Given the description of an element on the screen output the (x, y) to click on. 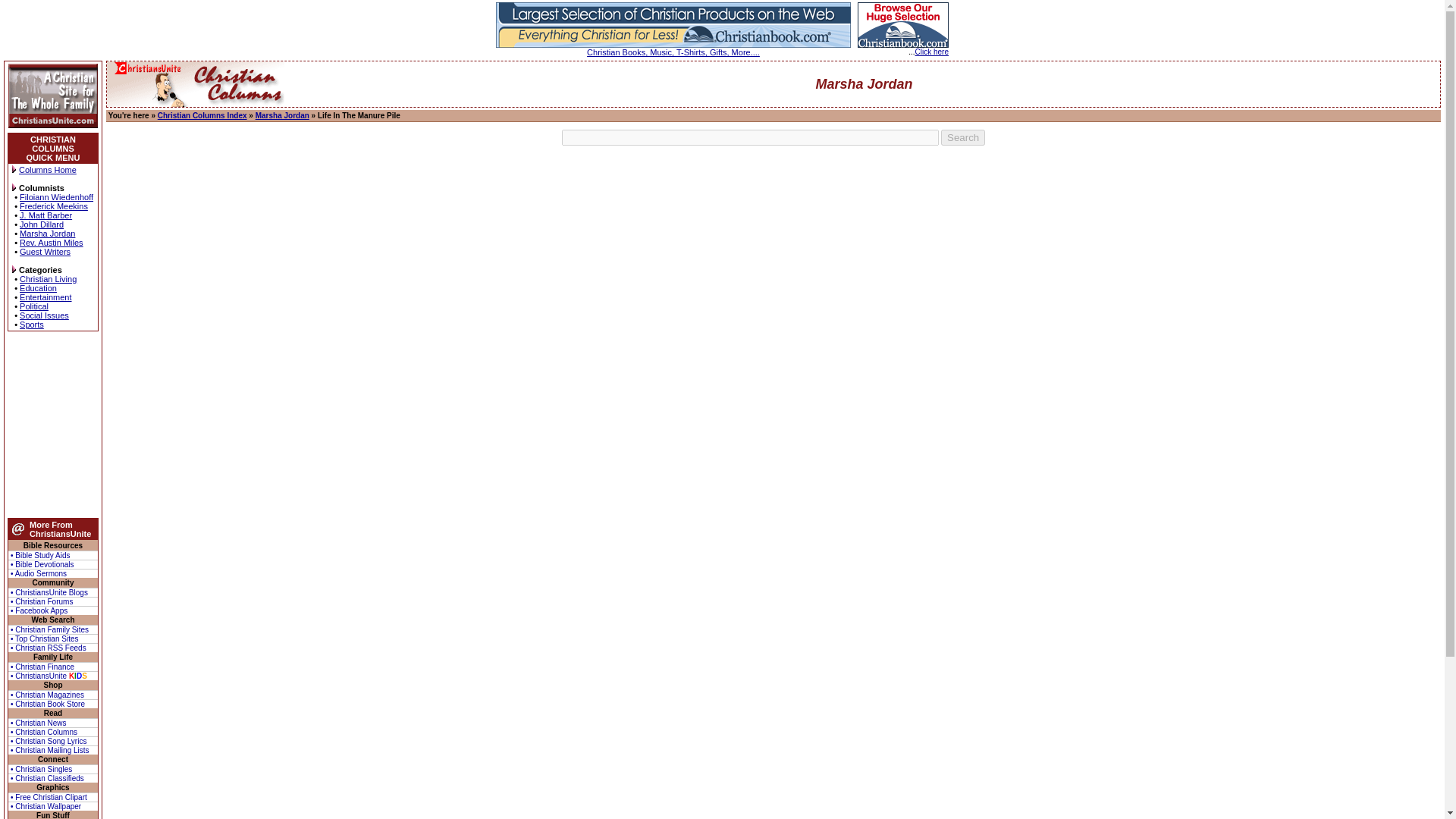
Political (34, 306)
Guest Writers (44, 251)
John Dillard (42, 224)
Education (38, 287)
Search (962, 137)
Columns Home (47, 169)
Filoiann Wiedenhoff (56, 196)
Rev. Austin Miles (51, 242)
Christian Living (48, 278)
Social Issues (44, 315)
Marsha Jordan (47, 233)
Entertainment (45, 297)
Frederick Meekins (53, 205)
Click here (932, 51)
J. Matt Barber (45, 215)
